Given the description of an element on the screen output the (x, y) to click on. 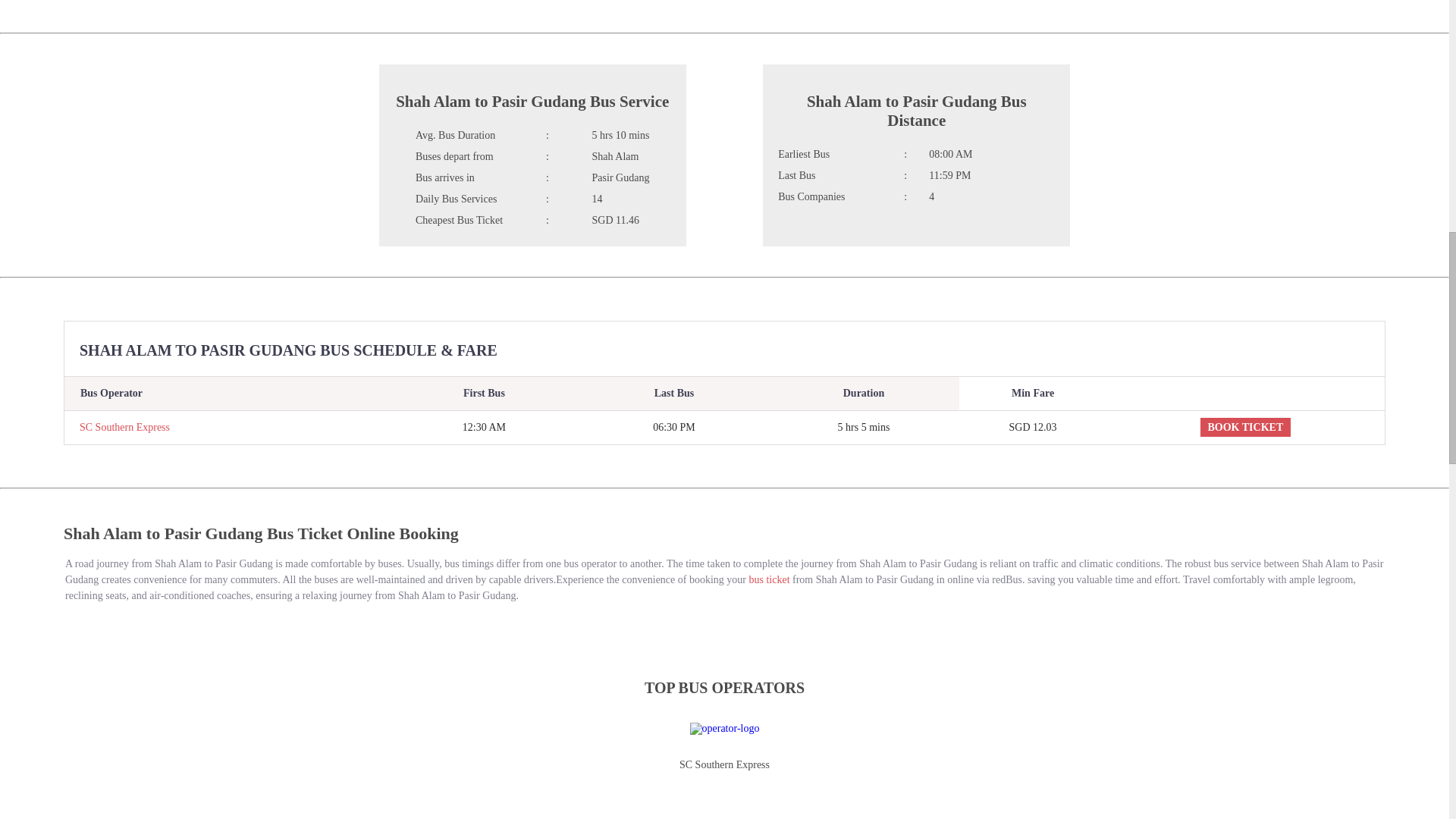
bus ticket (769, 579)
BOOK TICKET (1244, 425)
SC Southern Express (117, 427)
